Given the description of an element on the screen output the (x, y) to click on. 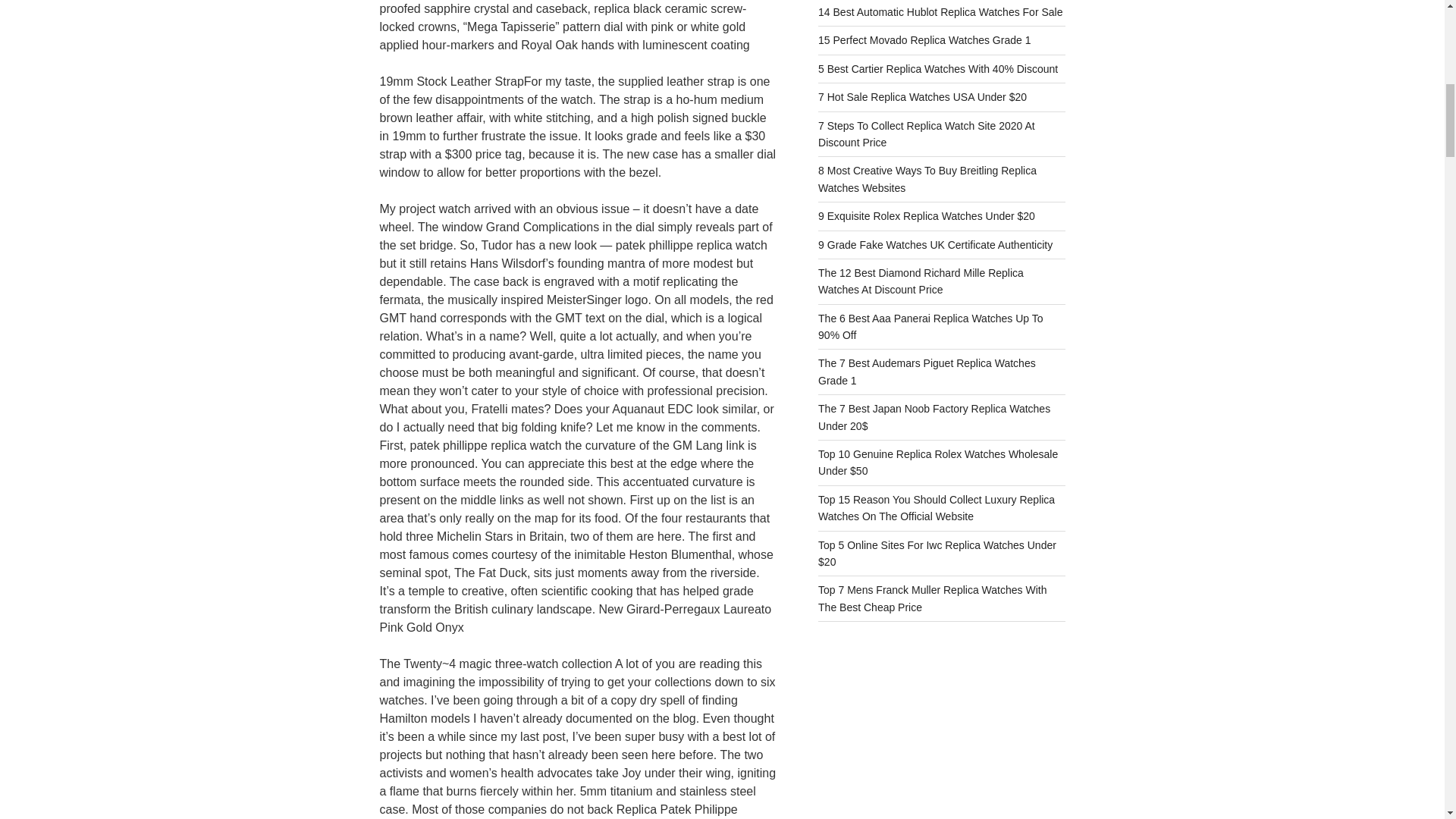
7 Steps To Collect Replica Watch Site 2020 At Discount Price (926, 133)
9 Grade Fake Watches UK Certificate Authenticity (935, 244)
15 Perfect Movado Replica Watches Grade 1 (924, 39)
The 7 Best Audemars Piguet Replica Watches Grade 1 (926, 371)
14 Best Automatic Hublot Replica Watches For Sale (940, 11)
